Given the description of an element on the screen output the (x, y) to click on. 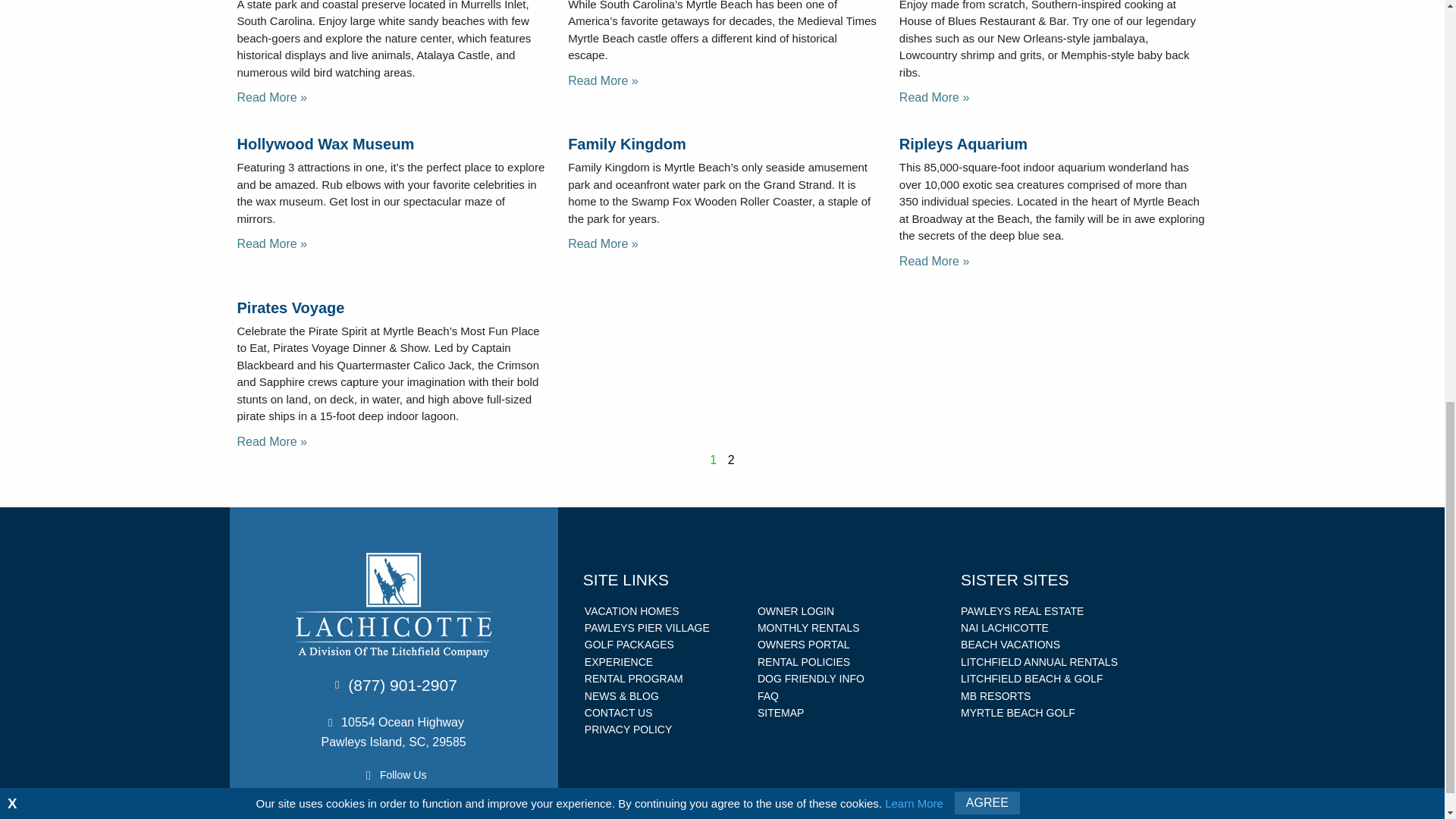
Family Kingdom (626, 143)
Ripleys Aquarium (963, 143)
Hollywood Wax Museum (324, 143)
Pirates Voyage (289, 307)
